Given the description of an element on the screen output the (x, y) to click on. 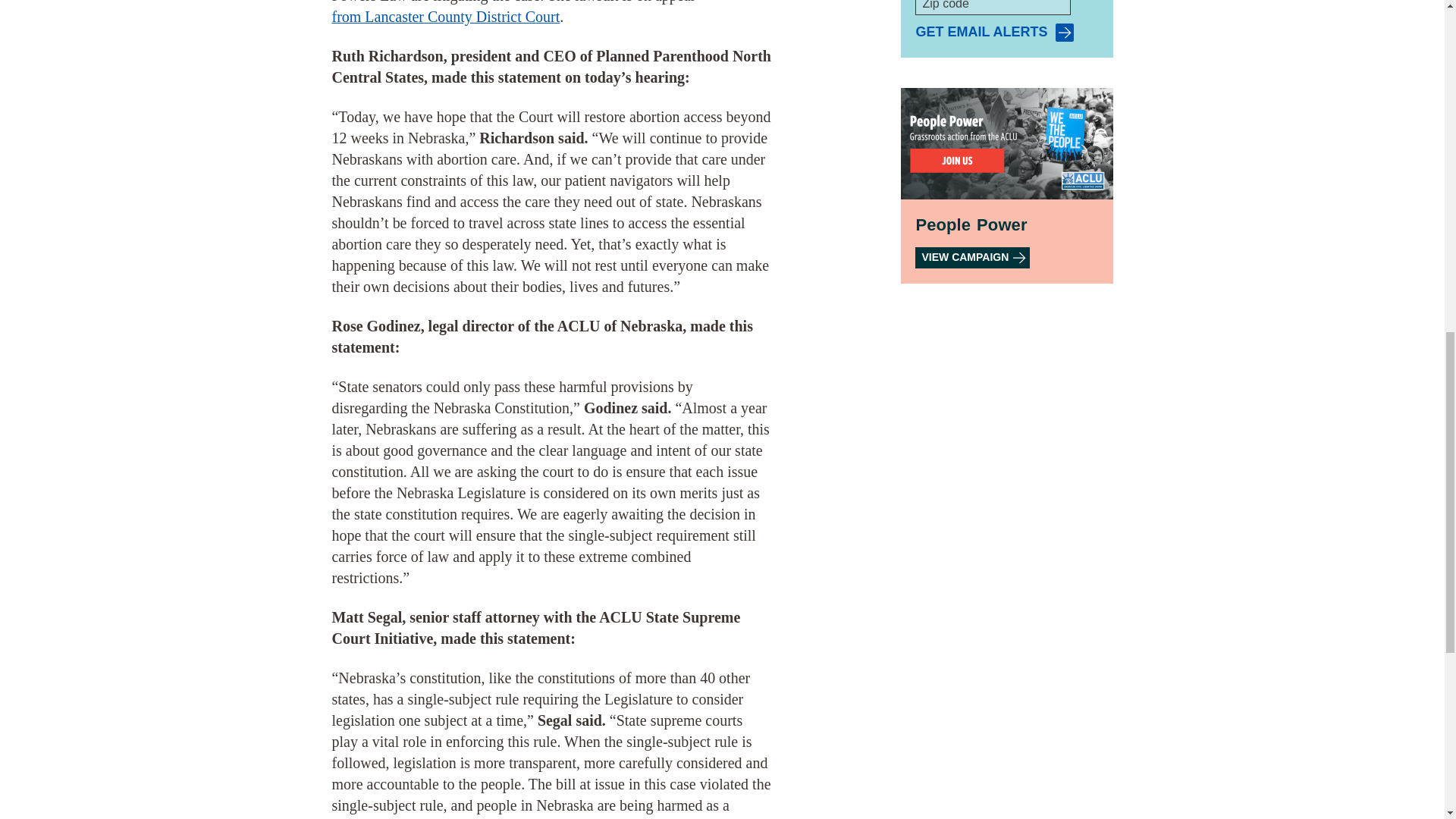
Zip code (992, 7)
Get email alerts (994, 32)
People Power (972, 257)
